Given the description of an element on the screen output the (x, y) to click on. 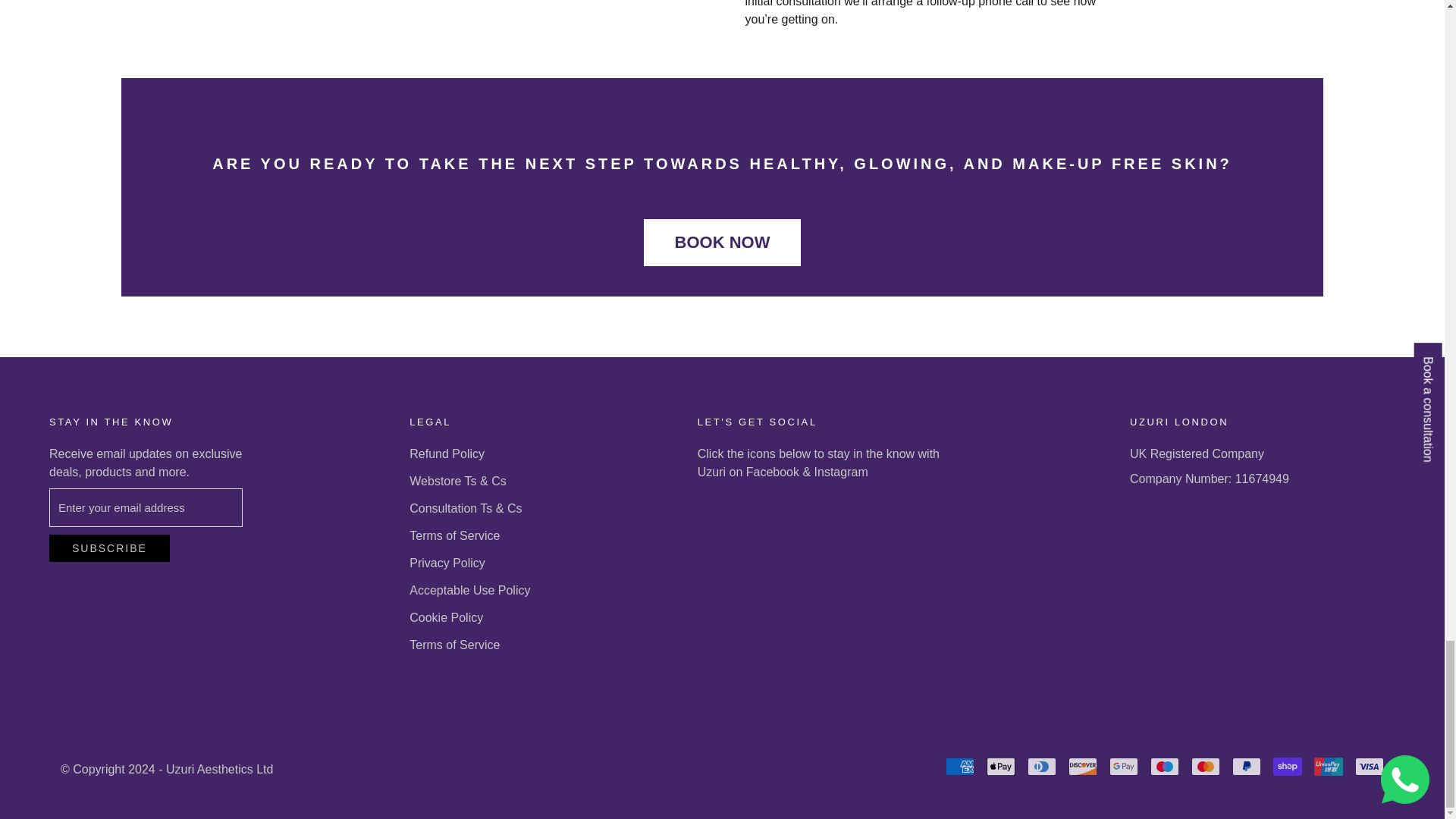
Apple Pay (1000, 766)
Diners Club (1042, 766)
Google Pay (1123, 766)
Shop Pay (1286, 766)
Subscribe (109, 547)
PayPal (1245, 766)
Mastercard (1205, 766)
Discover (1082, 766)
Visa (1369, 766)
Union Pay (1328, 766)
American Express (959, 766)
Maestro (1164, 766)
